Given the description of an element on the screen output the (x, y) to click on. 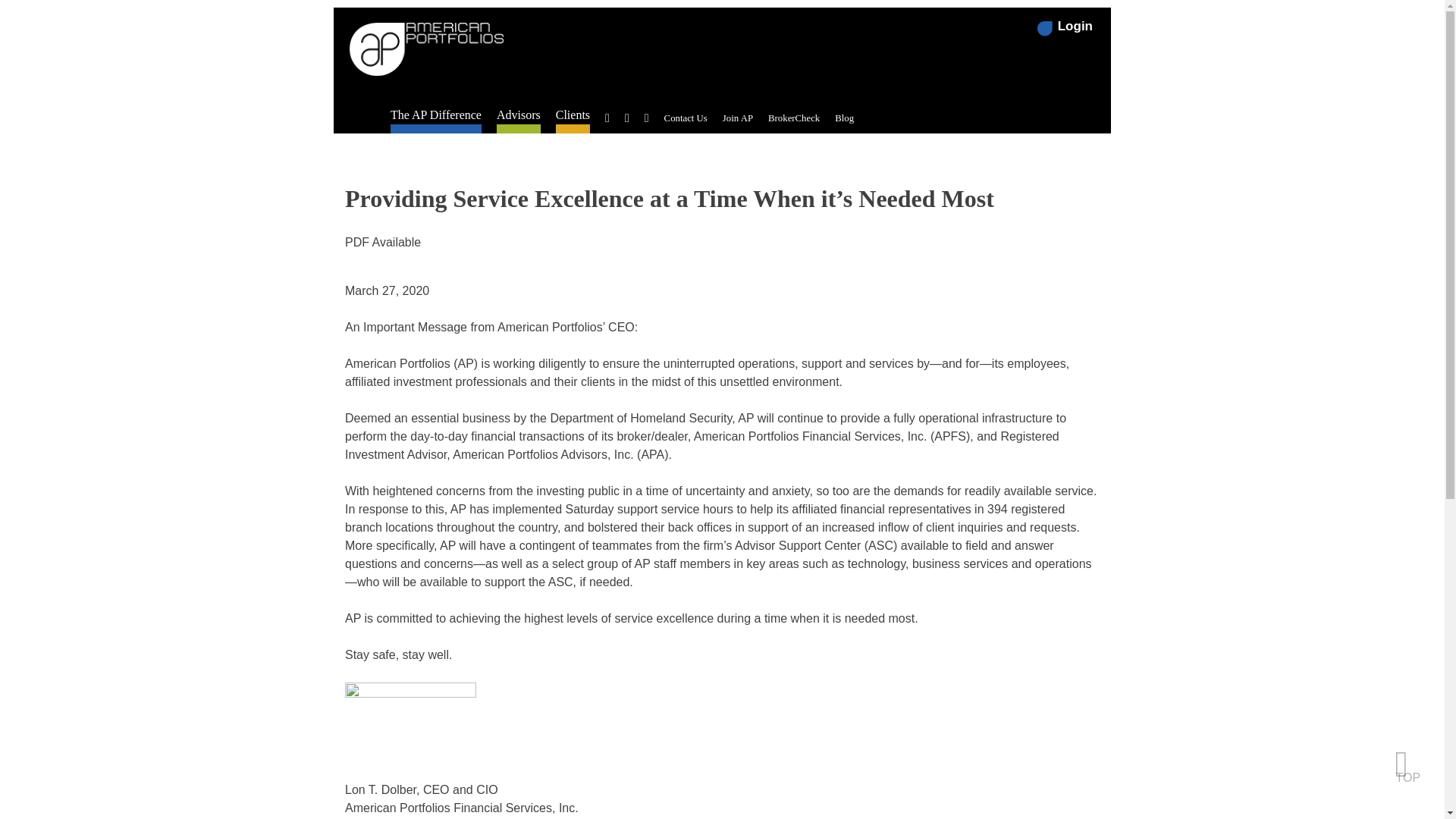
Advisors (518, 115)
BrokerCheck (793, 118)
The AP Difference (435, 115)
Clients (572, 115)
Login (1064, 25)
Contact Us (685, 118)
PDF Available (382, 241)
Join AP (737, 118)
